Given the description of an element on the screen output the (x, y) to click on. 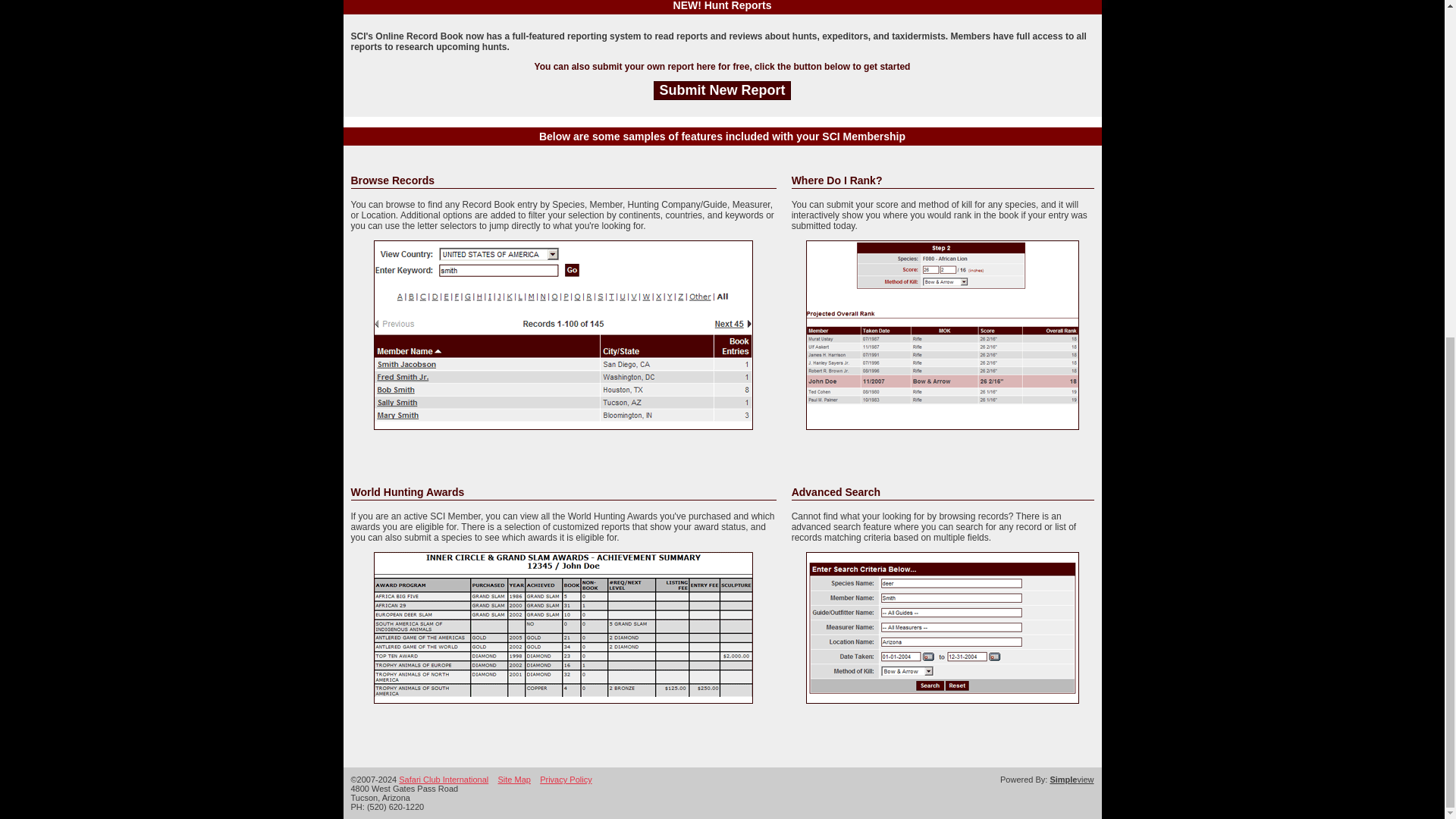
Privacy Policy (565, 778)
Submit New Report (721, 90)
Site Map (514, 778)
Safari Club International (442, 778)
Simpleview (1071, 778)
